Given the description of an element on the screen output the (x, y) to click on. 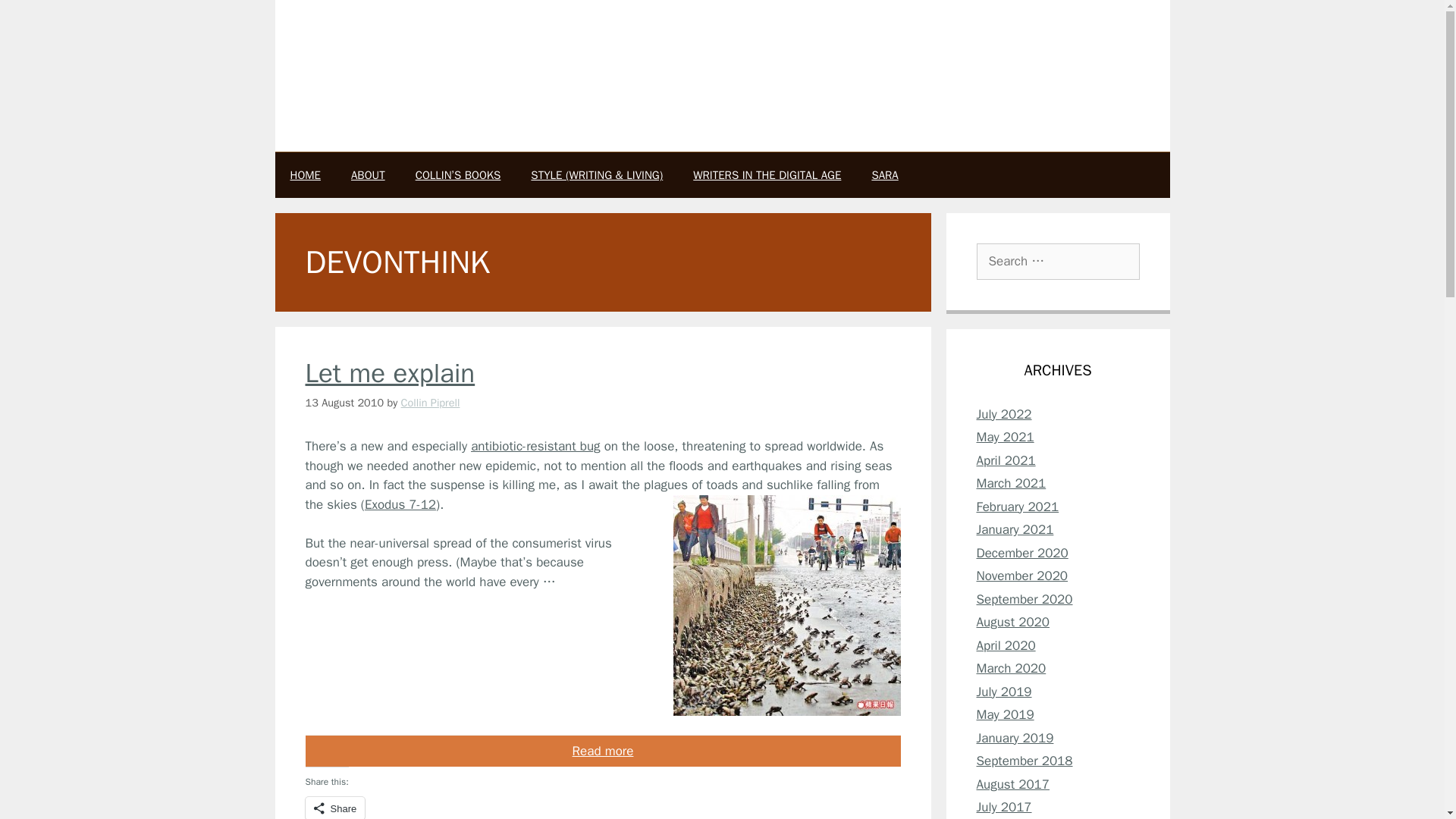
Search for: (1058, 261)
WRITERS IN THE DIGITAL AGE (767, 175)
ABOUT (368, 175)
antibiotic-resistant bug (534, 446)
Share (334, 807)
Read more (601, 750)
February 2021 (1017, 506)
SARA (884, 175)
January 2021 (1015, 529)
COLLIN PIPRELL, in reality (480, 34)
